Given the description of an element on the screen output the (x, y) to click on. 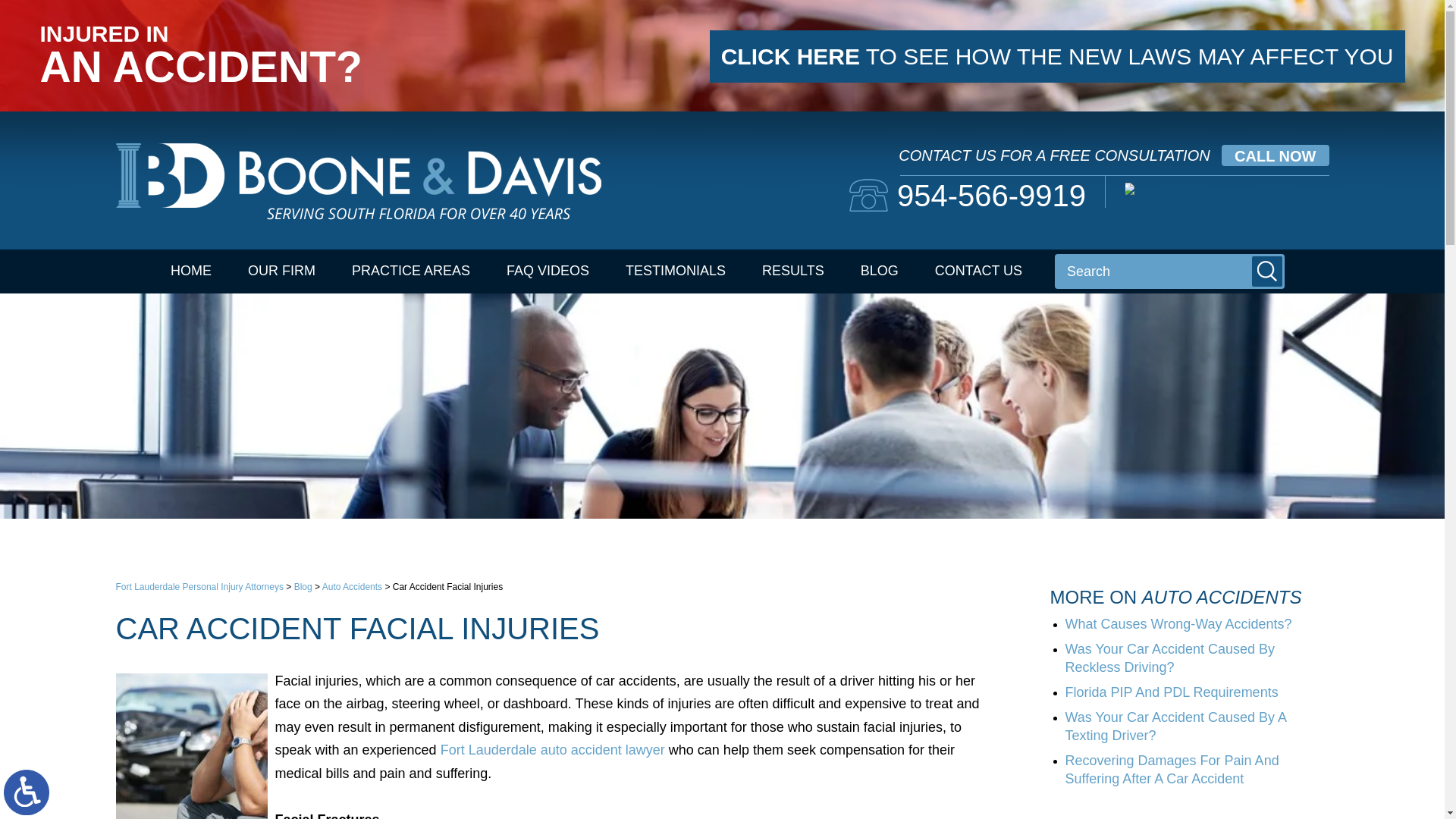
Switch to ADA Accessible Theme (26, 791)
CLICK HERE TO SEE HOW THE NEW LAWS MAY AFFECT YOU (1057, 56)
CALL NOW (1274, 155)
954-566-9919 (967, 195)
OUR FIRM (281, 271)
HOME (191, 271)
Submit (1267, 271)
PRACTICE AREAS (410, 271)
